Given the description of an element on the screen output the (x, y) to click on. 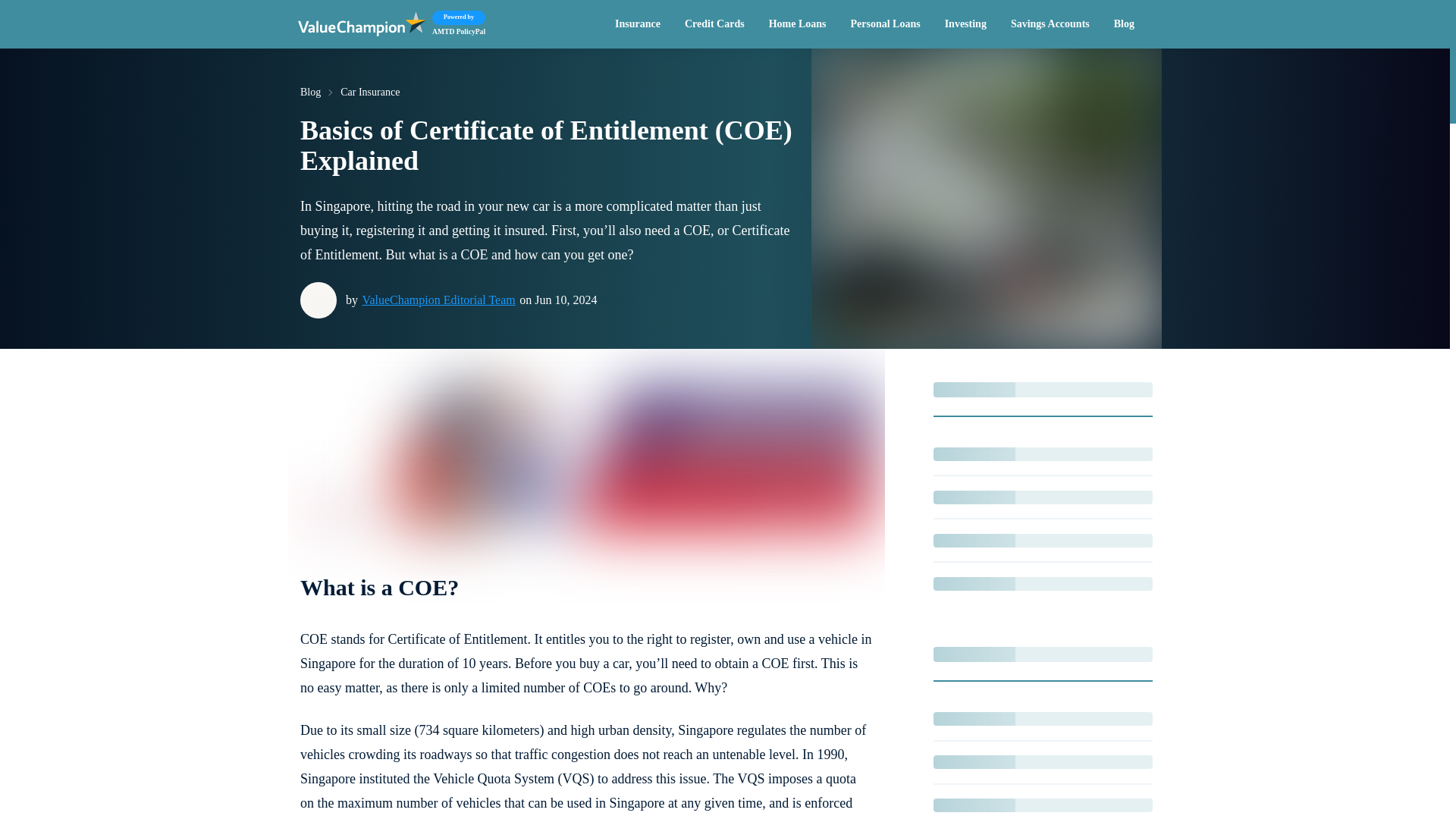
Insurance (637, 24)
Personal Loans (884, 24)
Investing (965, 24)
Blog (1124, 24)
Home Loans (445, 23)
Credit Cards (797, 24)
Savings Accounts (714, 24)
